Given the description of an element on the screen output the (x, y) to click on. 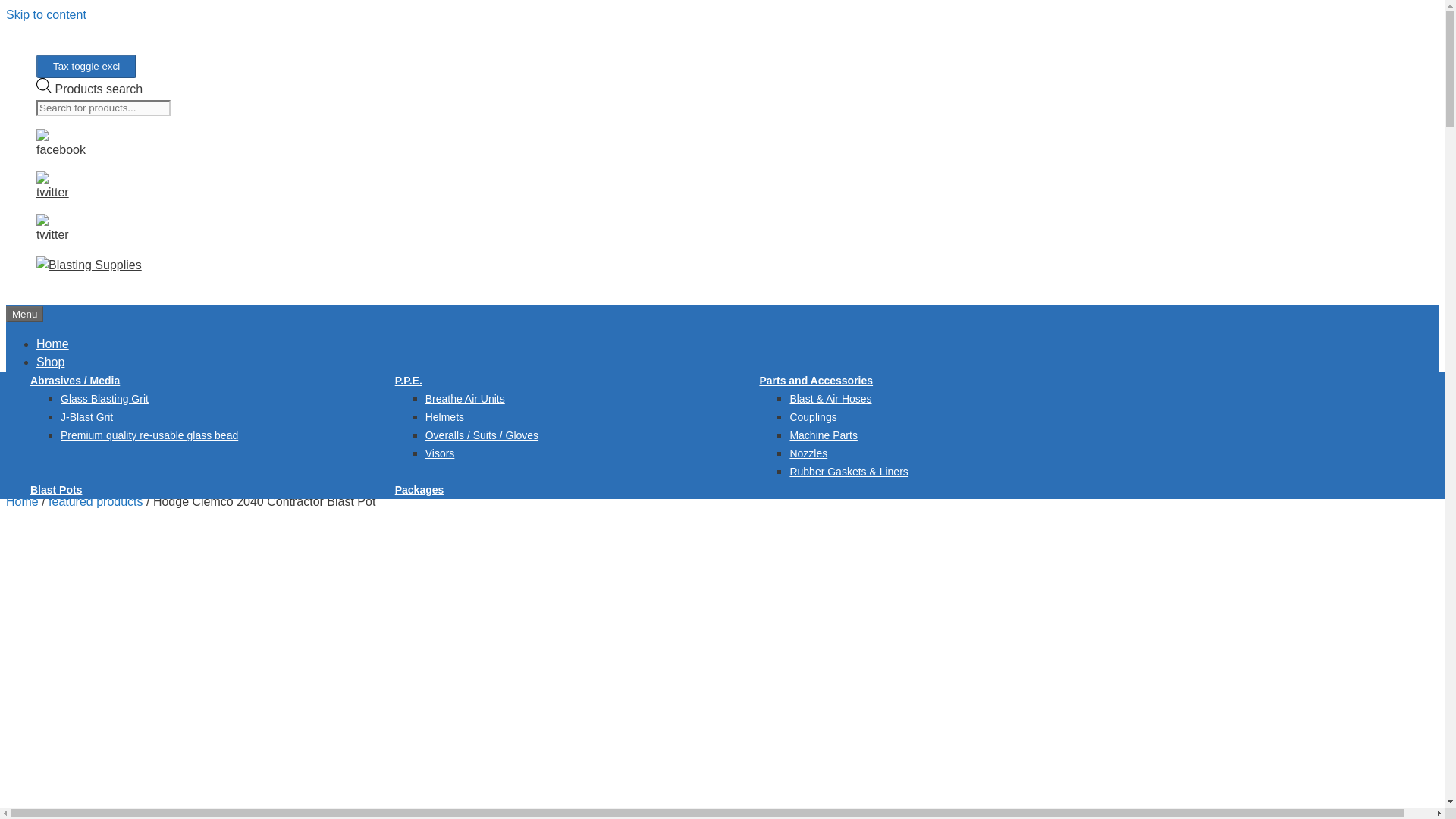
Used Equipment (80, 434)
J-Blast Grit (87, 417)
Home (22, 501)
Menu (24, 314)
featured products (95, 501)
Basket (55, 379)
Checkout (89, 398)
Nozzles (808, 453)
Parts and Accessories (815, 380)
P.P.E. (408, 380)
